Given the description of an element on the screen output the (x, y) to click on. 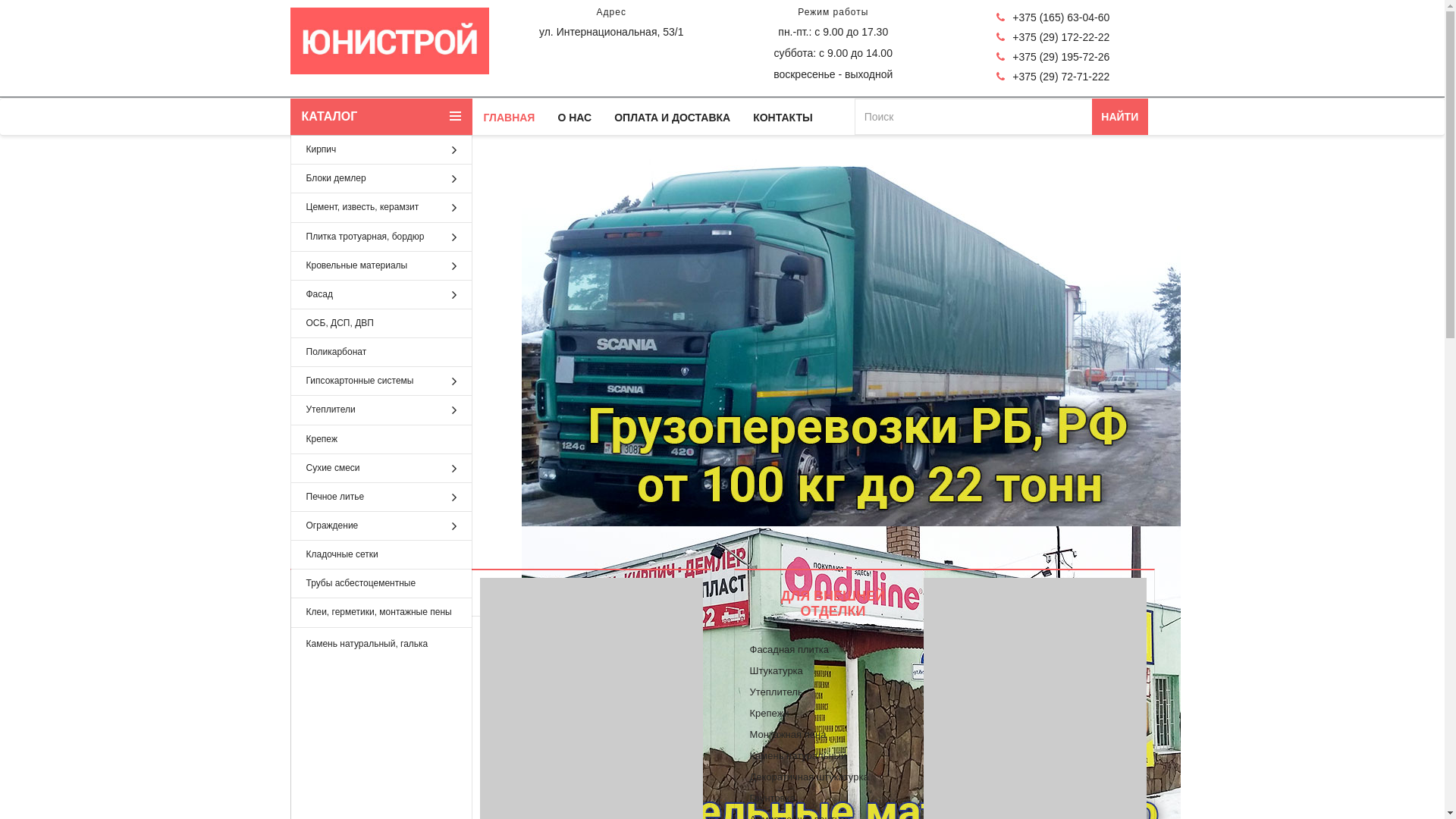
+375 (165) 63-04-60 Element type: text (1052, 17)
+375 (29) 195-72-26 Element type: text (1052, 56)
+375 (29) 172-22-22 Element type: text (1052, 37)
+375 (29) 72-71-222 Element type: text (1052, 76)
